Given the description of an element on the screen output the (x, y) to click on. 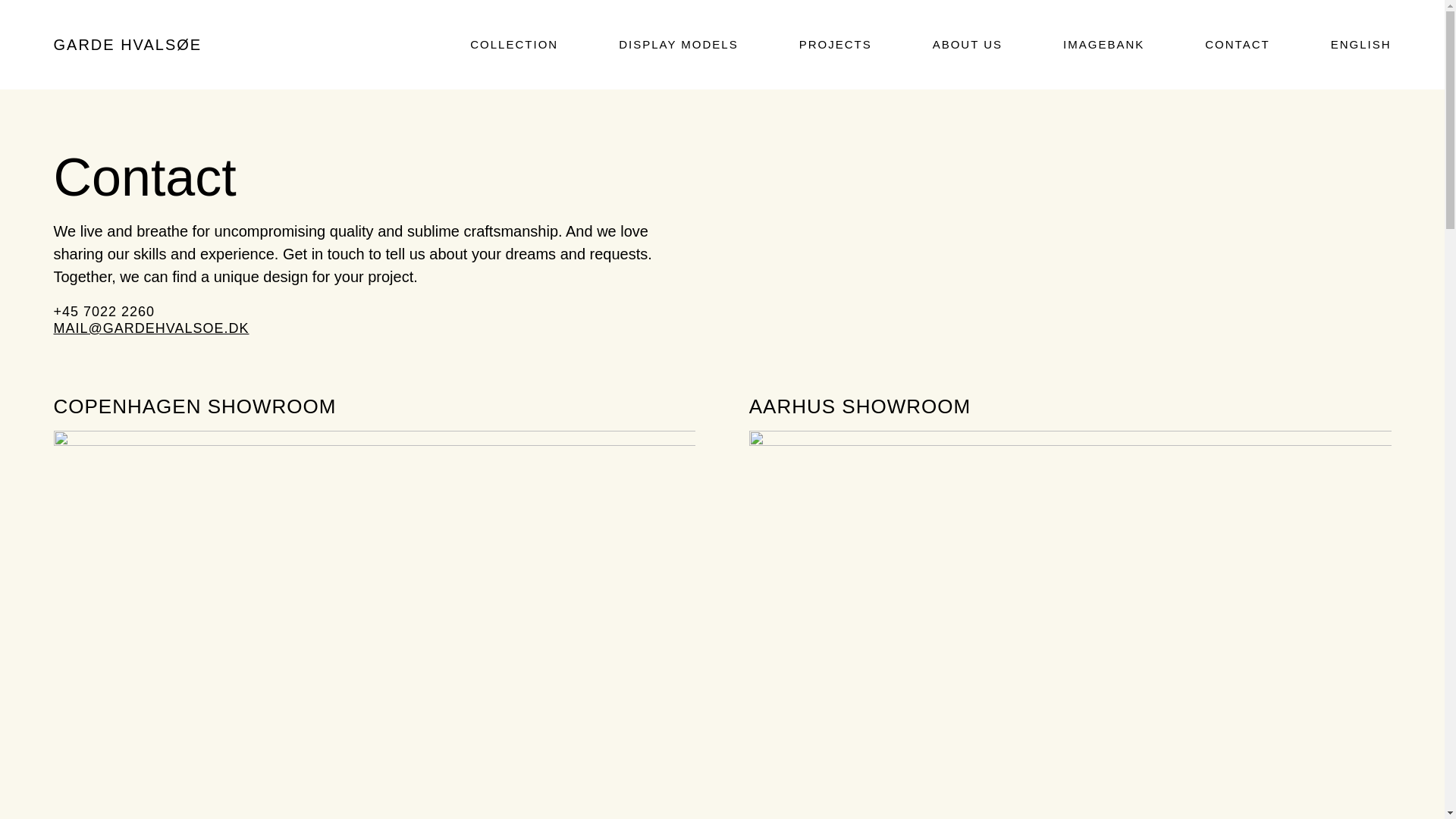
ENGLISH (1360, 44)
IMAGEBANK (1103, 44)
ABOUT US (968, 44)
CONTACT (1237, 44)
DISPLAY MODELS (678, 44)
COLLECTION (513, 44)
PROJECTS (835, 44)
